Given the description of an element on the screen output the (x, y) to click on. 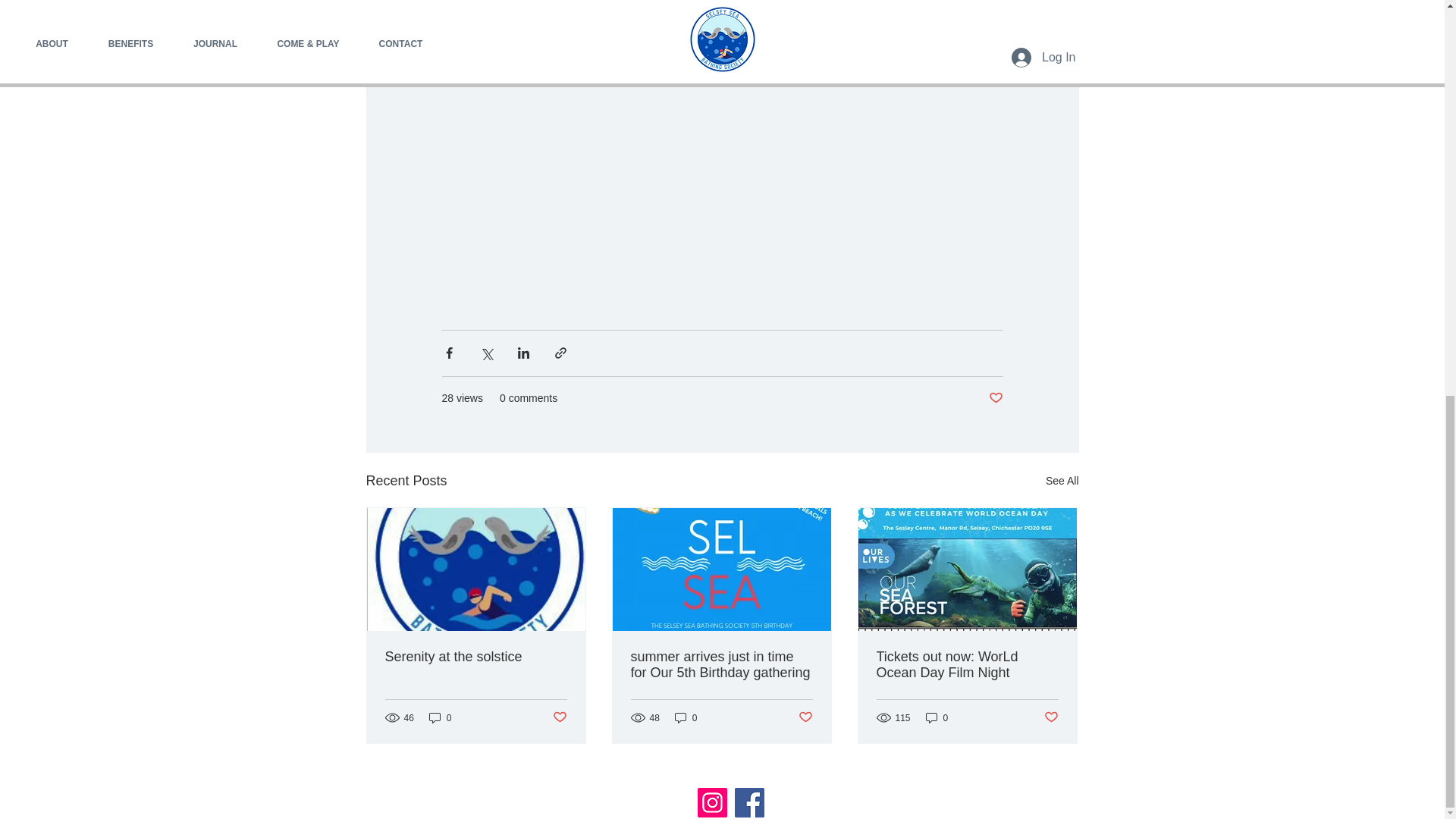
summer arrives just in time for Our 5th Birthday gathering (721, 664)
Post not marked as liked (1050, 717)
Post not marked as liked (558, 717)
See All (1061, 481)
Serenity at the solstice (476, 657)
Post not marked as liked (804, 717)
Tickets out now: WorLd Ocean Day Film Night (967, 664)
0 (937, 717)
Post not marked as liked (995, 397)
0 (440, 717)
